Given the description of an element on the screen output the (x, y) to click on. 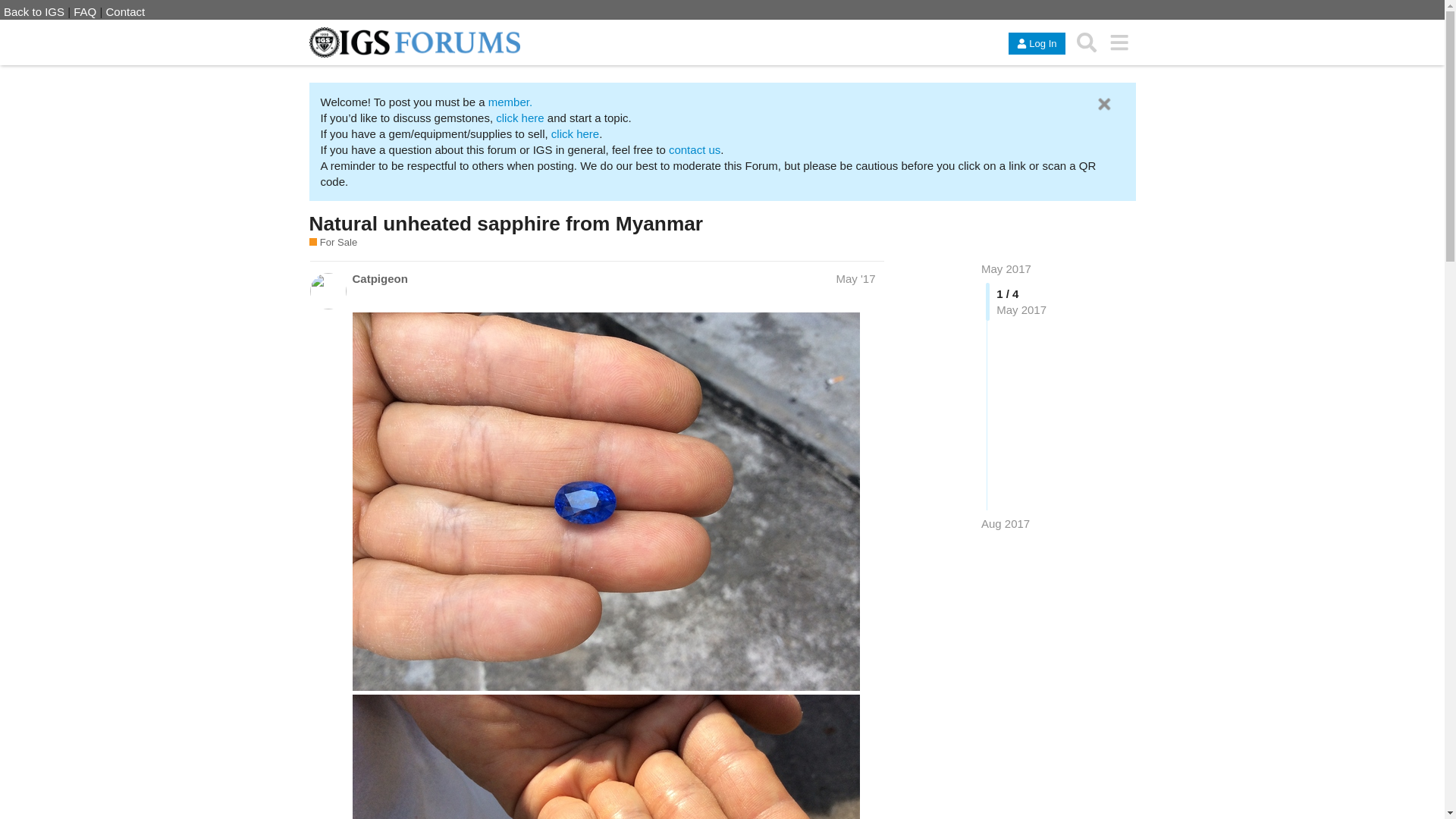
Dismiss this banner (1104, 104)
Catpigeon (379, 278)
click here (519, 117)
Aug 2017 (1005, 523)
May 2017 (1005, 268)
Contact (125, 11)
FAQ (85, 11)
Back to IGS (34, 11)
For Sale (333, 242)
Search (1086, 42)
Aug 13, 2017 7:18 pm (1005, 522)
May '17 (855, 278)
Post date (855, 278)
contact us (694, 149)
menu (1119, 42)
